Given the description of an element on the screen output the (x, y) to click on. 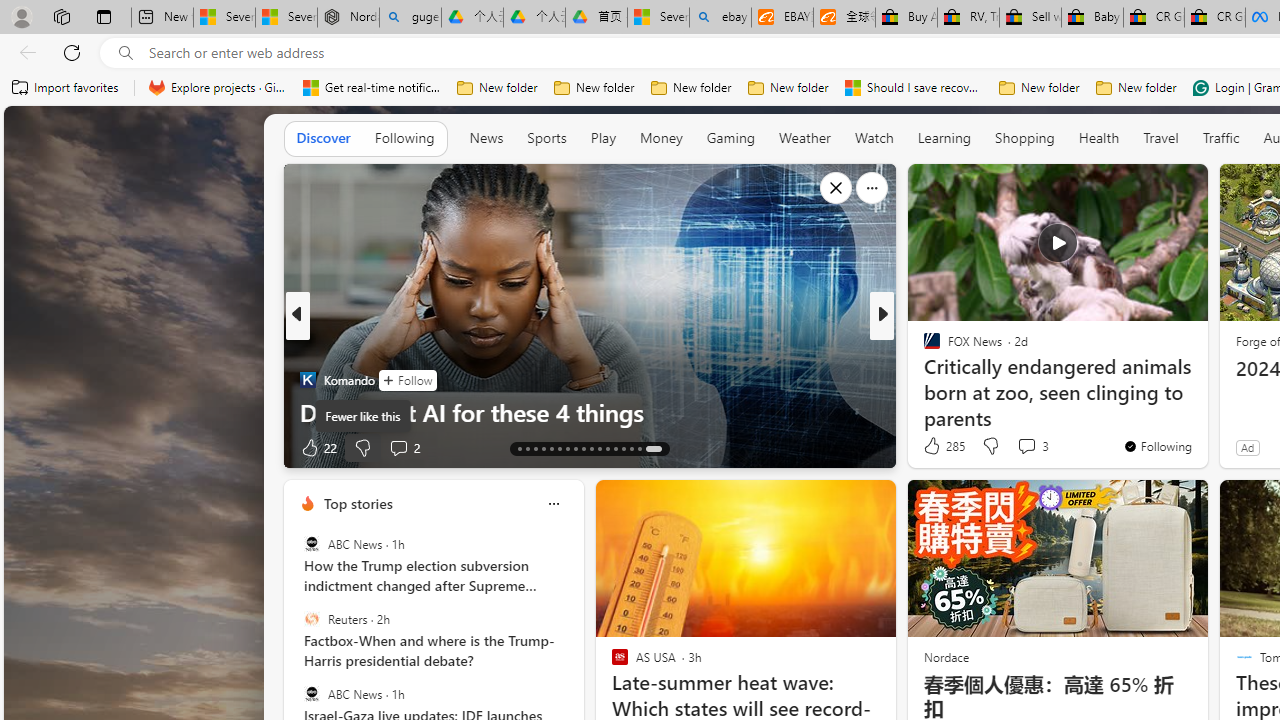
Class: icon-img (553, 503)
View comments 2 Comment (398, 447)
Health (1099, 137)
Shopping (1025, 137)
Top stories (357, 503)
285 Like (942, 446)
ABC News (311, 693)
Health (1098, 138)
Traffic (1220, 138)
